Given the description of an element on the screen output the (x, y) to click on. 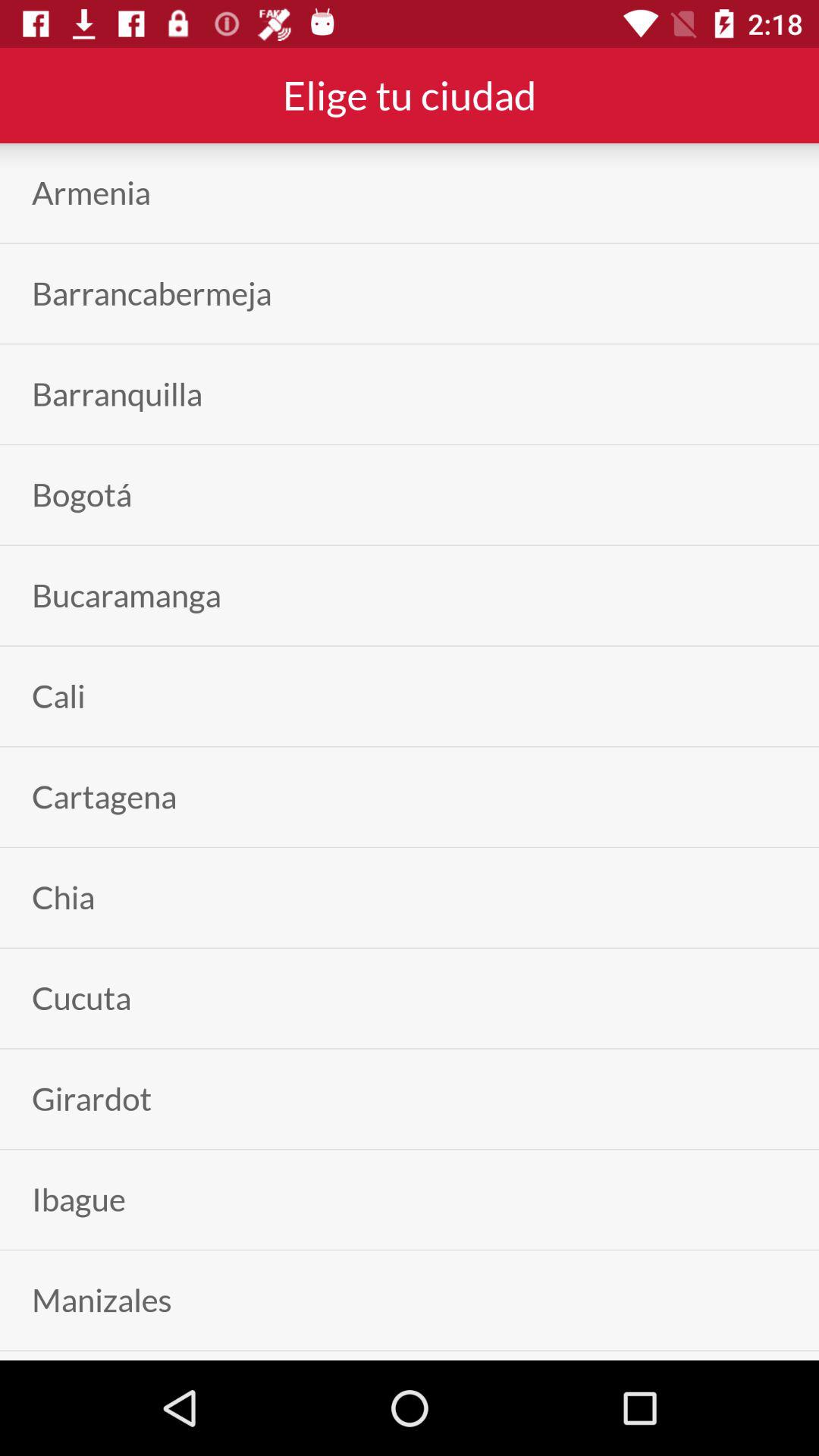
turn off chia app (62, 897)
